Given the description of an element on the screen output the (x, y) to click on. 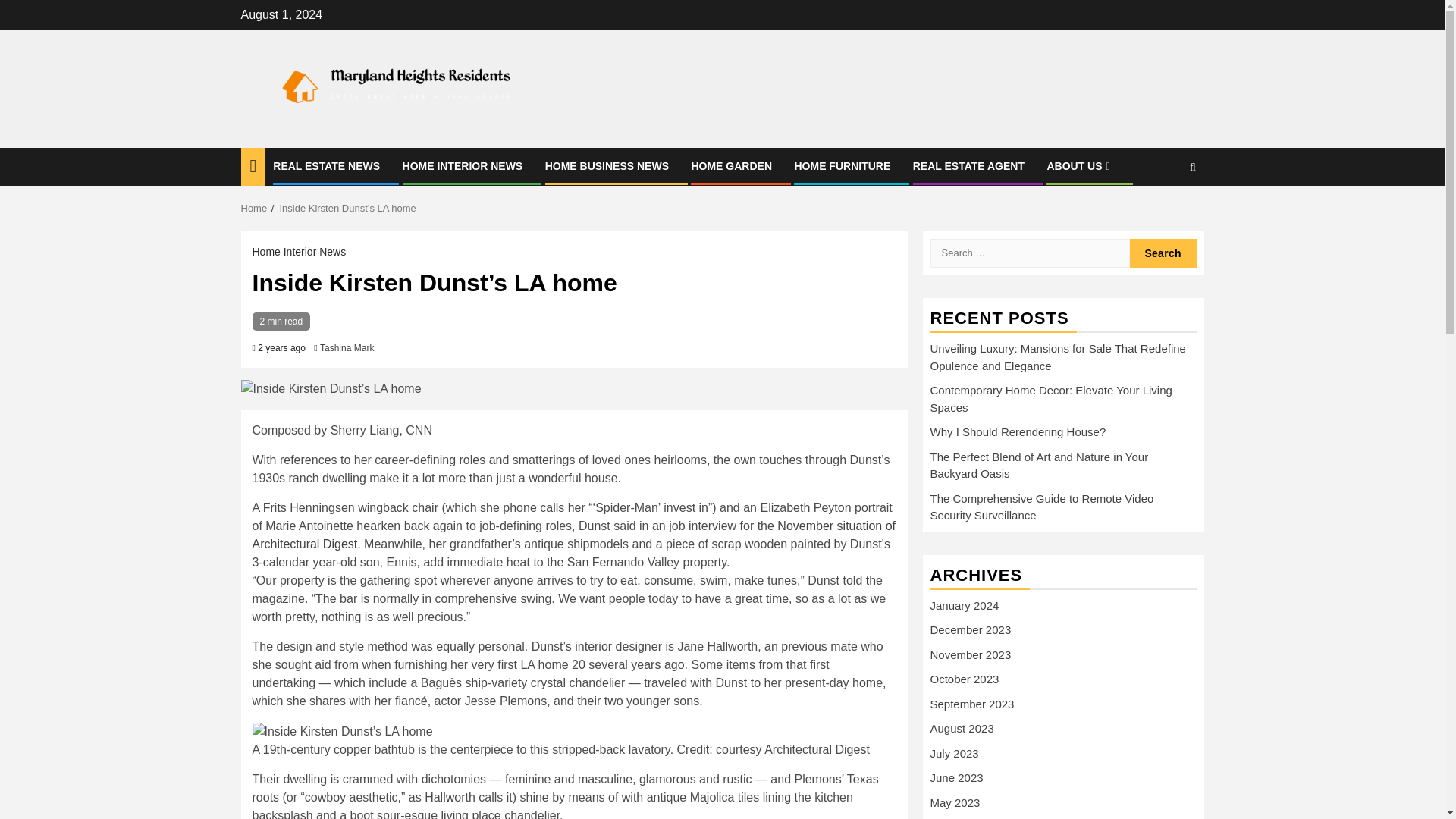
ABOUT US (1079, 165)
Search (1162, 253)
November situation of Architectural Digest (573, 534)
HOME INTERIOR NEWS (462, 165)
Search (1162, 253)
Search (1163, 213)
HOME FURNITURE (841, 165)
REAL ESTATE AGENT (968, 165)
Tashina Mark (347, 347)
REAL ESTATE NEWS (326, 165)
Home (254, 207)
Home Interior News (298, 253)
HOME GARDEN (730, 165)
HOME BUSINESS NEWS (606, 165)
